Given the description of an element on the screen output the (x, y) to click on. 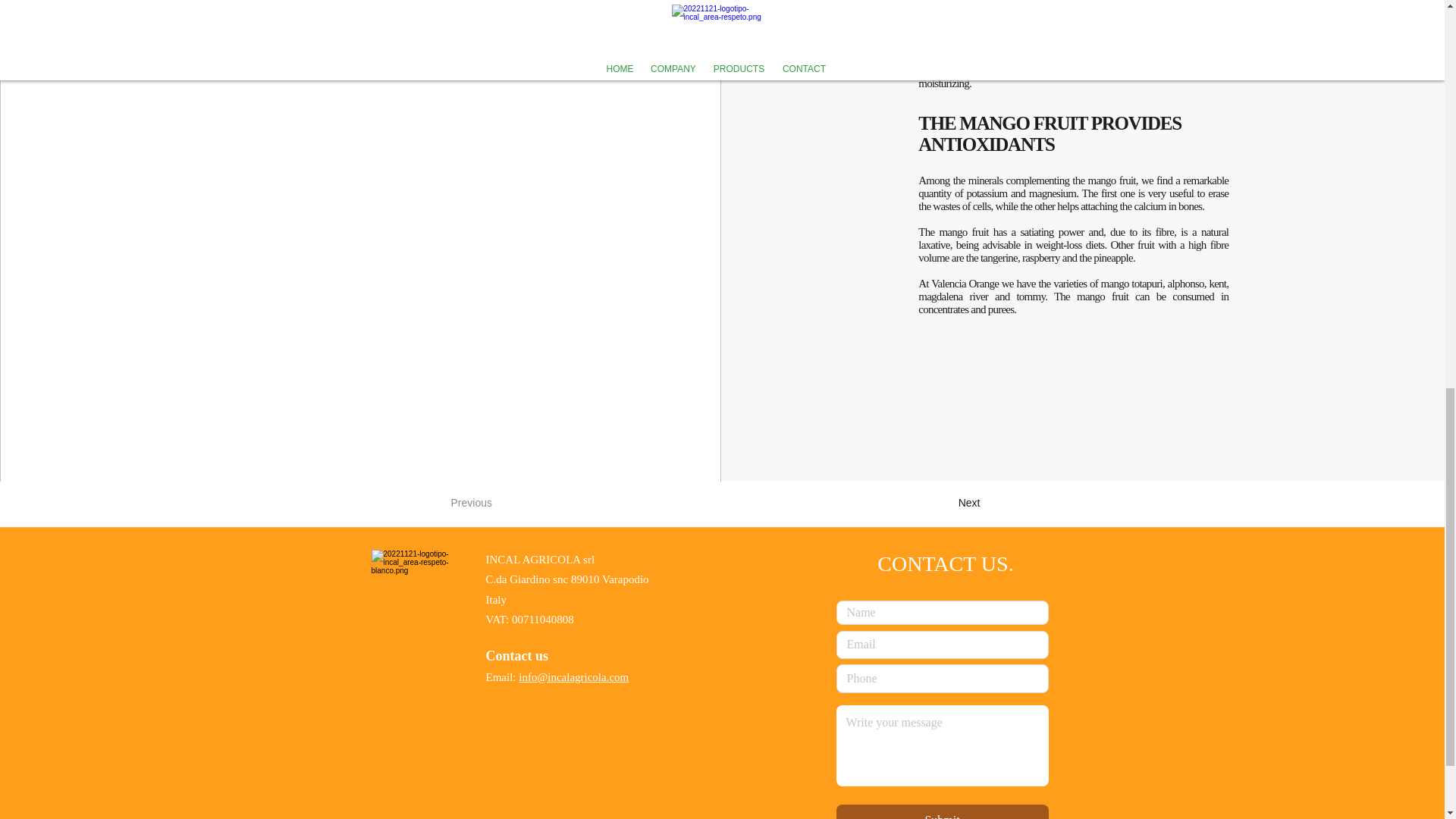
Previous (499, 503)
Next (941, 503)
Submit (941, 811)
